Given the description of an element on the screen output the (x, y) to click on. 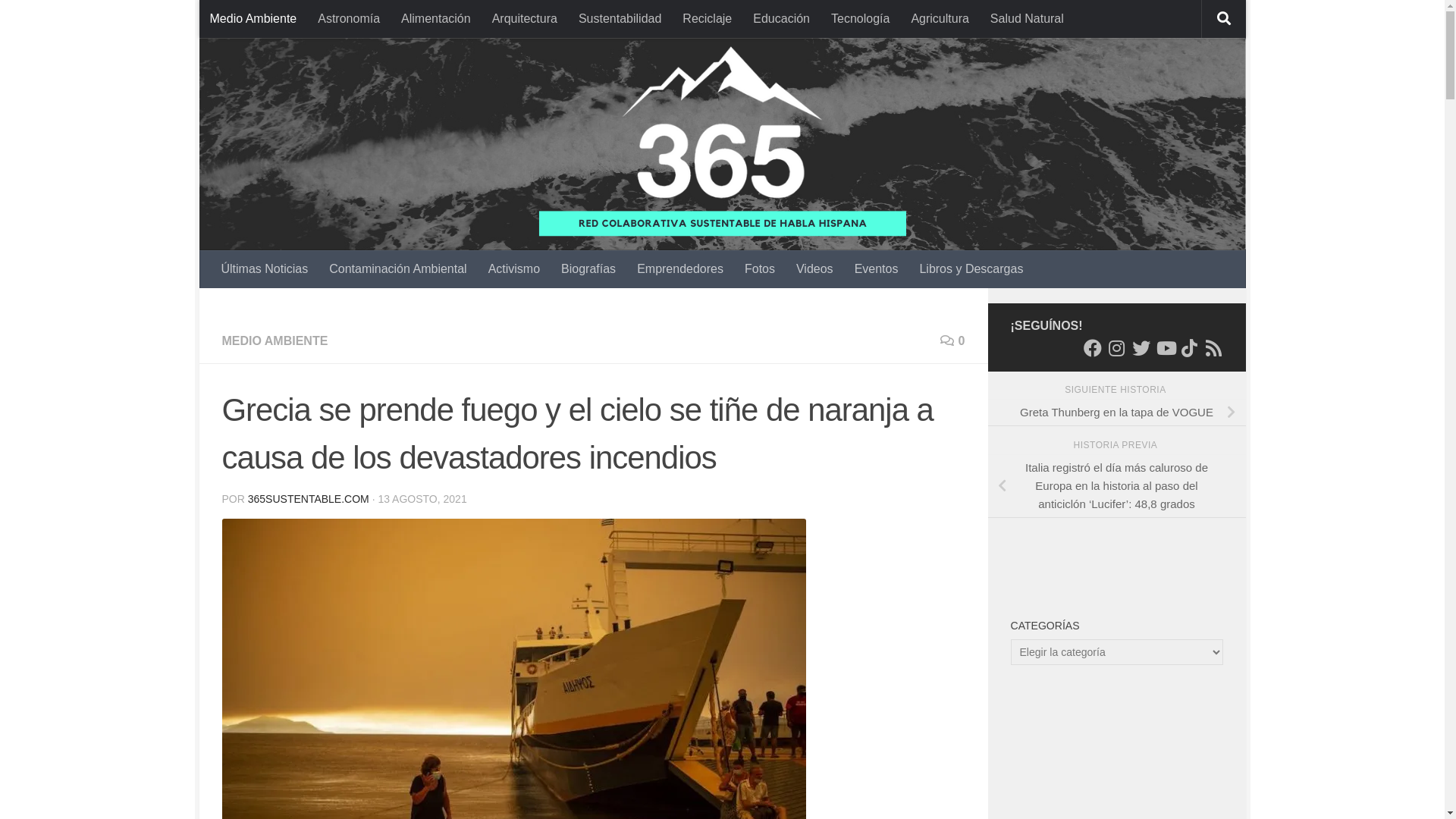
Fotos Element type: text (759, 269)
MEDIO AMBIENTE Element type: text (274, 340)
Medio Ambiente Element type: text (252, 18)
Saltar al contenido Element type: text (273, 20)
Libros y Descargas Element type: text (970, 269)
Arquitectura Element type: text (524, 18)
Emprendedores Element type: text (680, 269)
Reciclaje Element type: text (706, 18)
Agricultura Element type: text (939, 18)
Videos Element type: text (814, 269)
Eventos Element type: text (876, 269)
Activismo Element type: text (513, 269)
365SUSTENTABLE.COM Element type: text (308, 498)
0 Element type: text (952, 340)
Greta Thunberg en la tapa de VOGUE Element type: text (1116, 412)
Sustentabilidad Element type: text (619, 18)
Salud Natural Element type: text (1026, 18)
